Given the description of an element on the screen output the (x, y) to click on. 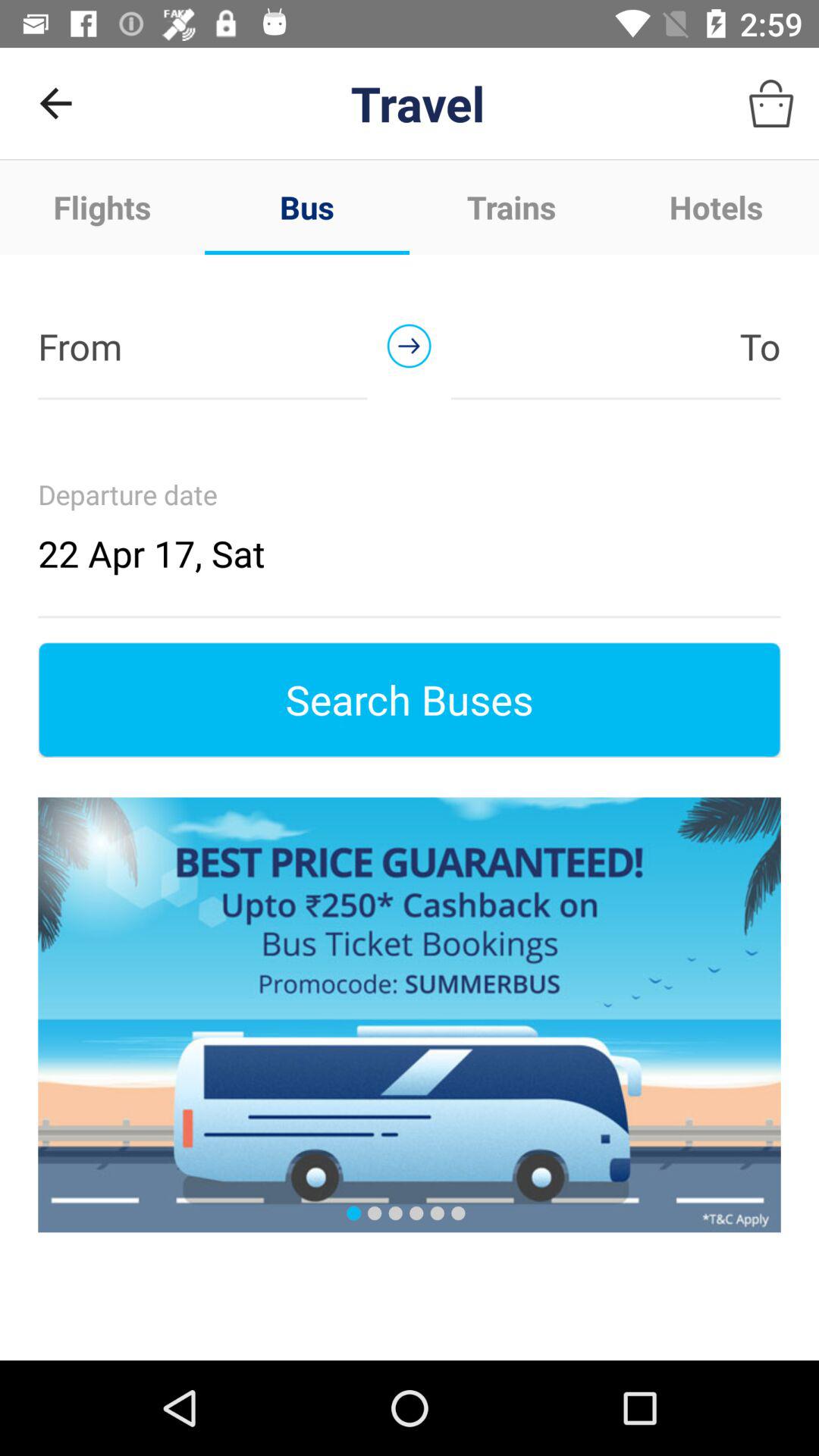
select cart (771, 103)
select departure date (409, 526)
